Given the description of an element on the screen output the (x, y) to click on. 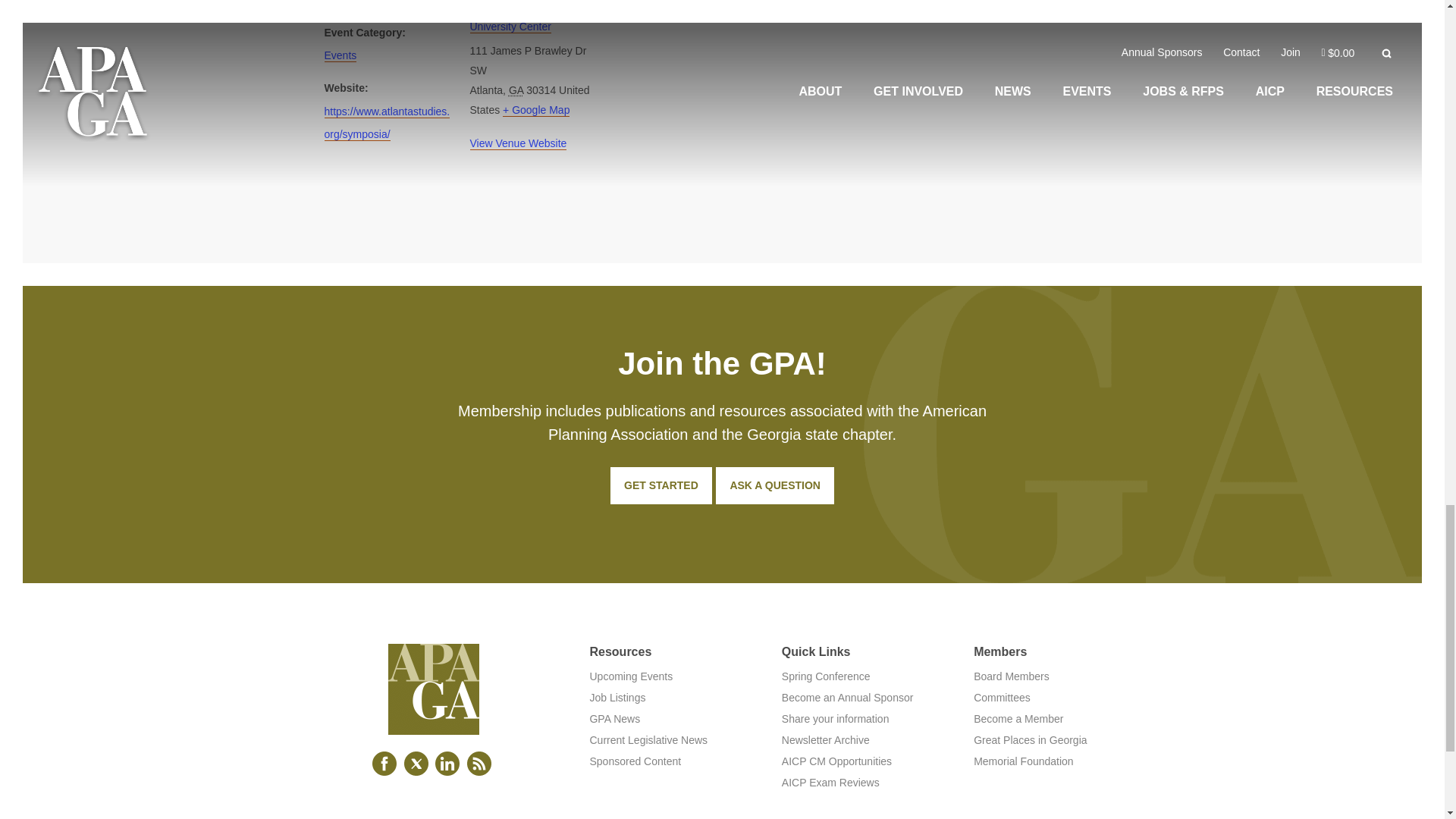
Click to view a Google Map (535, 110)
2020-04-23 (357, 2)
Georgia (515, 90)
Georgia Planning Association (433, 723)
